Given the description of an element on the screen output the (x, y) to click on. 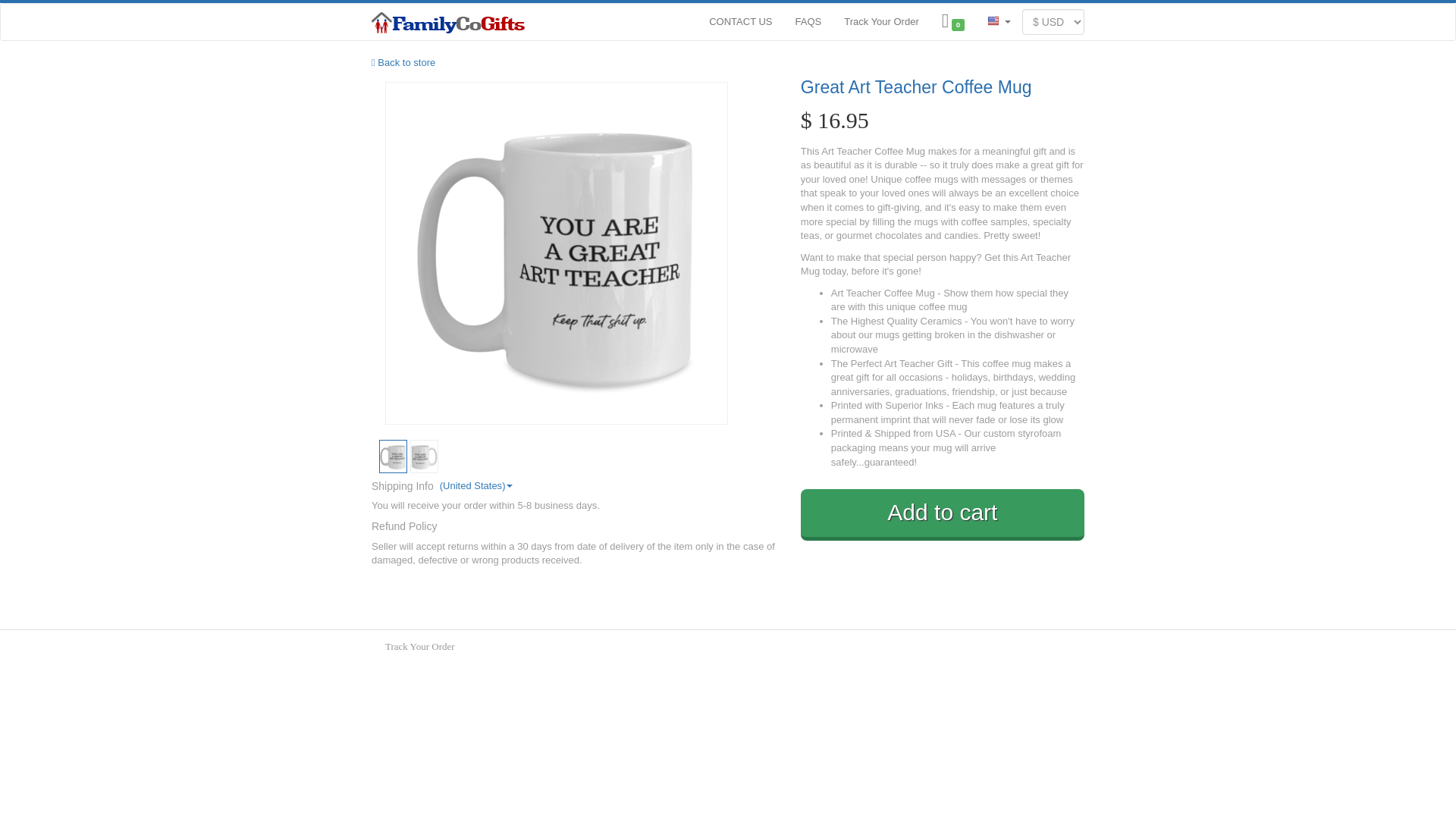
Back to store (403, 61)
Add to cart (942, 514)
0 (952, 21)
Track Your Order (881, 20)
FAQS (808, 20)
Track Your Order (419, 646)
Great Art Teacher Coffee Mug (942, 87)
CONTACT US (740, 20)
